Given the description of an element on the screen output the (x, y) to click on. 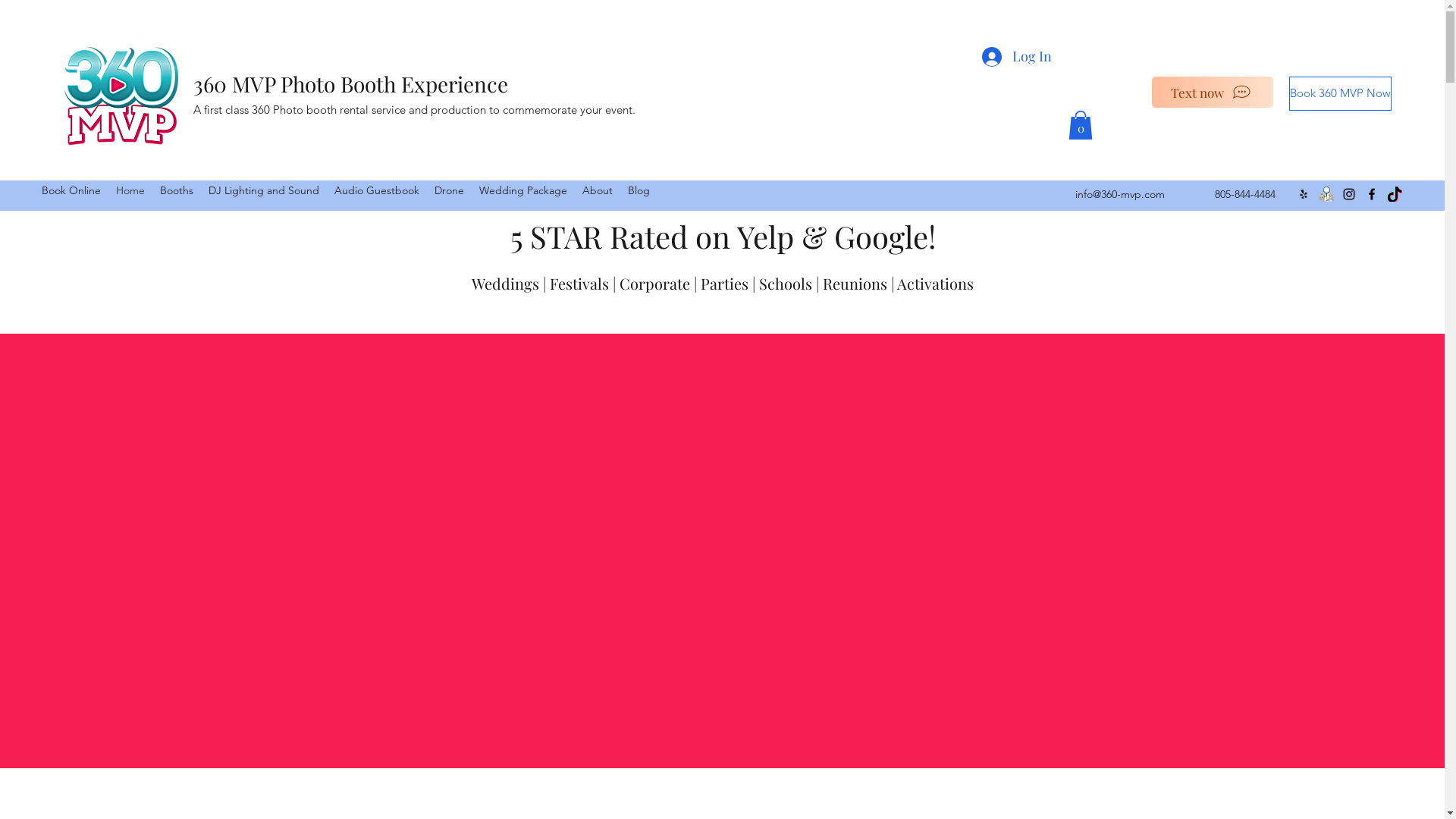
Book 360 MVP Now Element type: text (1340, 93)
About Element type: text (597, 189)
Text now Element type: text (1212, 91)
Booths Element type: text (176, 189)
DJ Lighting and Sound Element type: text (263, 189)
Book Online Element type: text (71, 189)
Home Element type: text (130, 189)
Wedding Package Element type: text (522, 189)
Audio Guestbook Element type: text (376, 189)
Blog Element type: text (638, 189)
Drone Element type: text (448, 189)
info@360-mvp.com Element type: text (1119, 193)
0 Element type: text (1079, 124)
External Vimeo Element type: hover (721, 591)
Log In Element type: text (1015, 56)
